Given the description of an element on the screen output the (x, y) to click on. 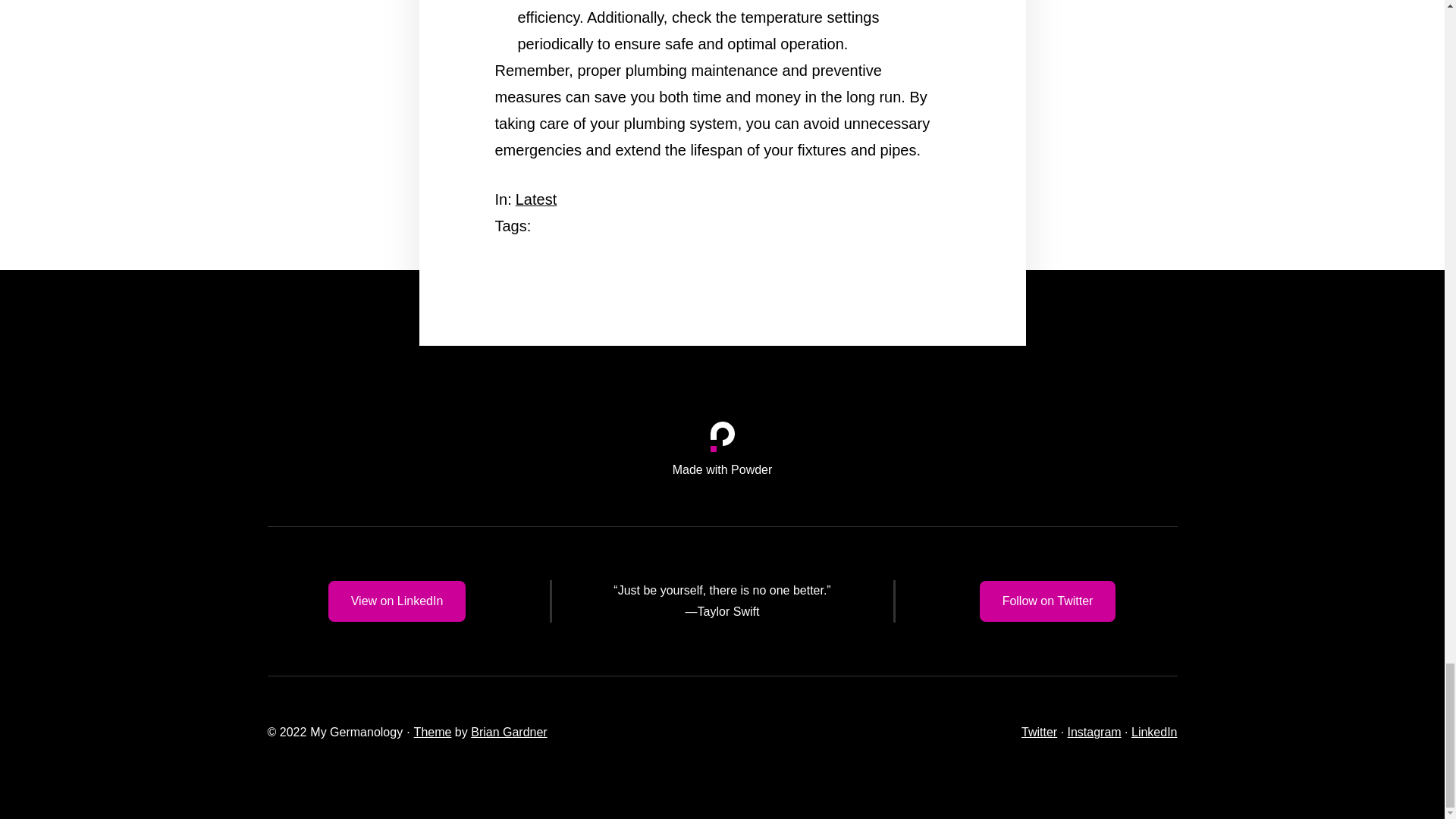
Instagram (1094, 731)
Latest (535, 199)
Theme (432, 731)
View on LinkedIn (397, 600)
LinkedIn (1154, 731)
Brian Gardner (508, 731)
Twitter (1039, 731)
Follow on Twitter (1047, 600)
